Given the description of an element on the screen output the (x, y) to click on. 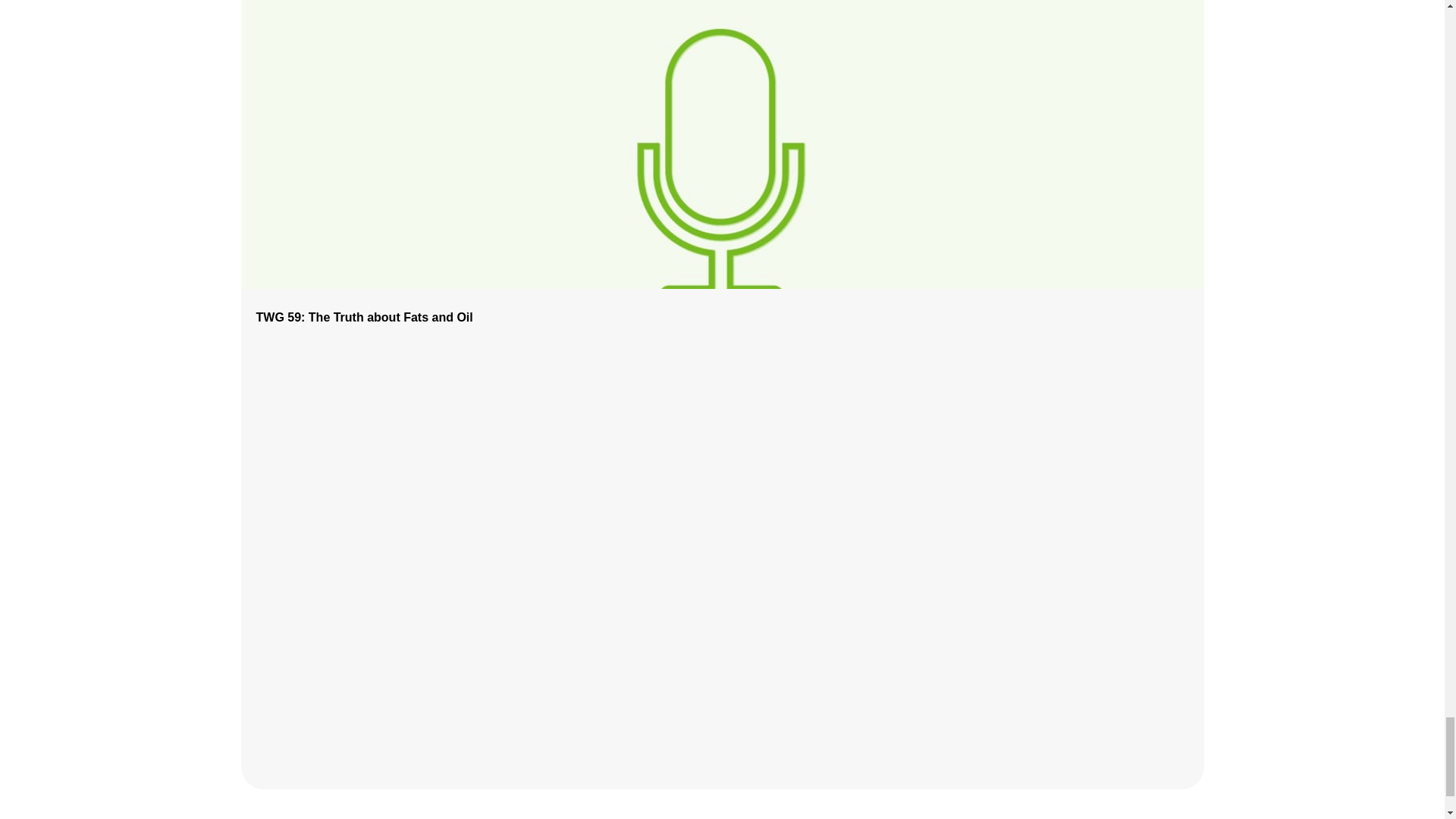
TWG 59: The Truth about Fats and Oil (364, 317)
